Given the description of an element on the screen output the (x, y) to click on. 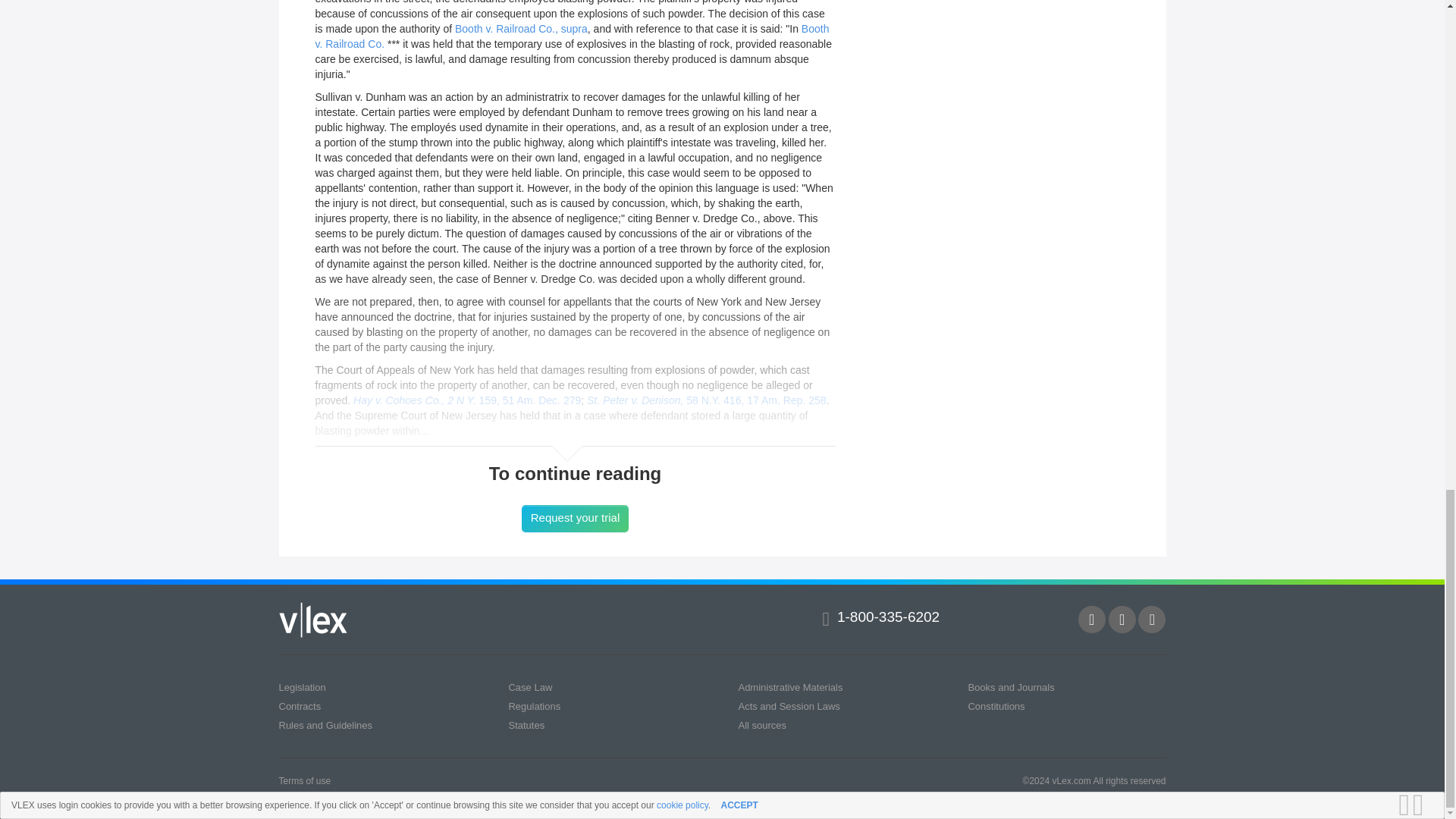
Terms of use (305, 780)
Acts and Session Laws (789, 706)
Statutes (526, 725)
Regulations (534, 706)
Books and Journals (1011, 686)
All sources (762, 725)
Contracts (300, 706)
Acts and Session Laws (789, 706)
Terms of use (305, 780)
Booth v. Railroad Co., supra (521, 28)
